Given the description of an element on the screen output the (x, y) to click on. 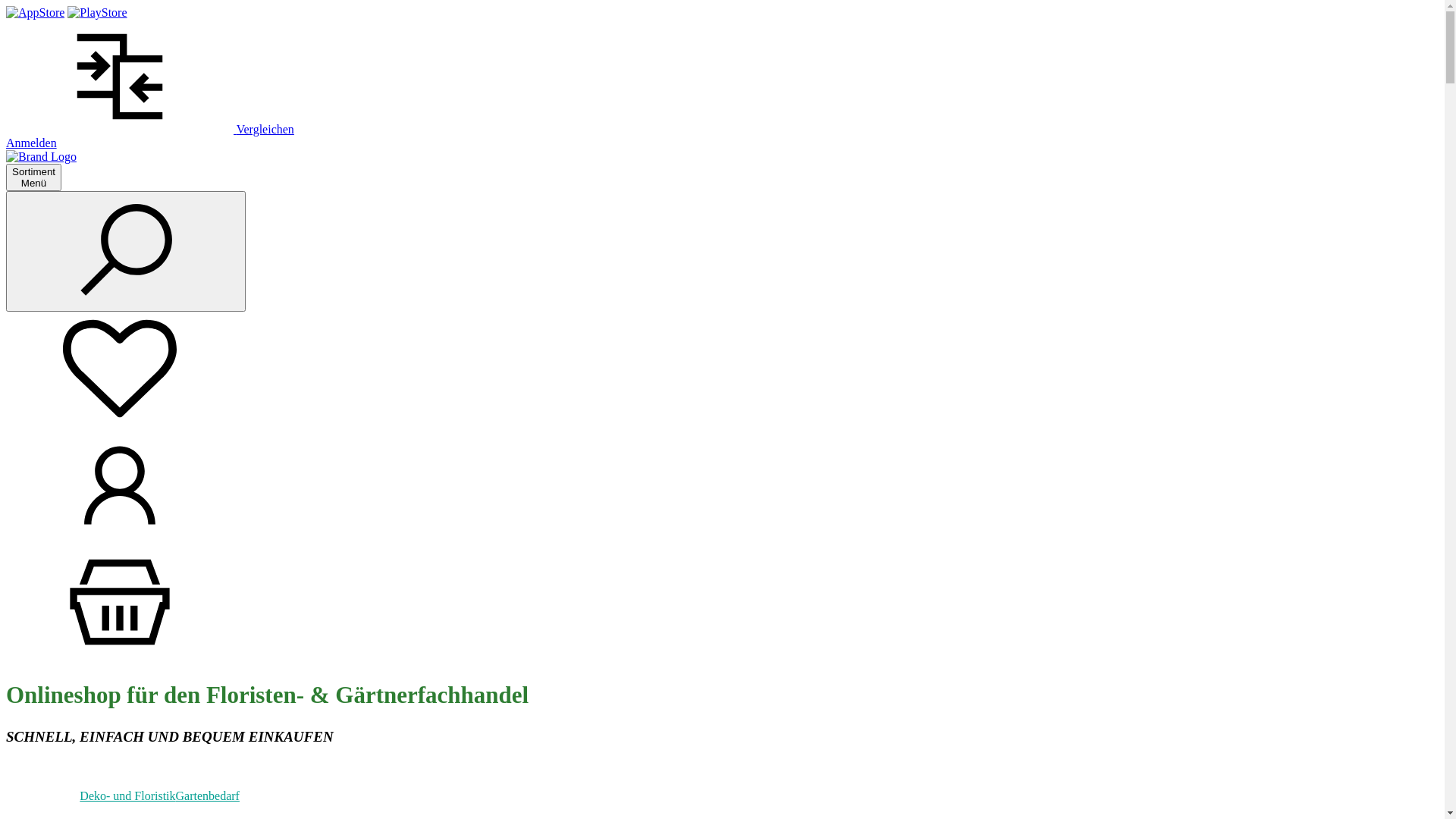
Deko- und Floristik Element type: text (127, 795)
Vergleichen Element type: text (150, 128)
Merkliste anzeigen Element type: hover (119, 420)
Anmelden Element type: hover (119, 537)
Warenkorb anzeigen Element type: hover (119, 654)
Anmelden Element type: text (31, 142)
Gartenbedarf Element type: text (207, 795)
